Given the description of an element on the screen output the (x, y) to click on. 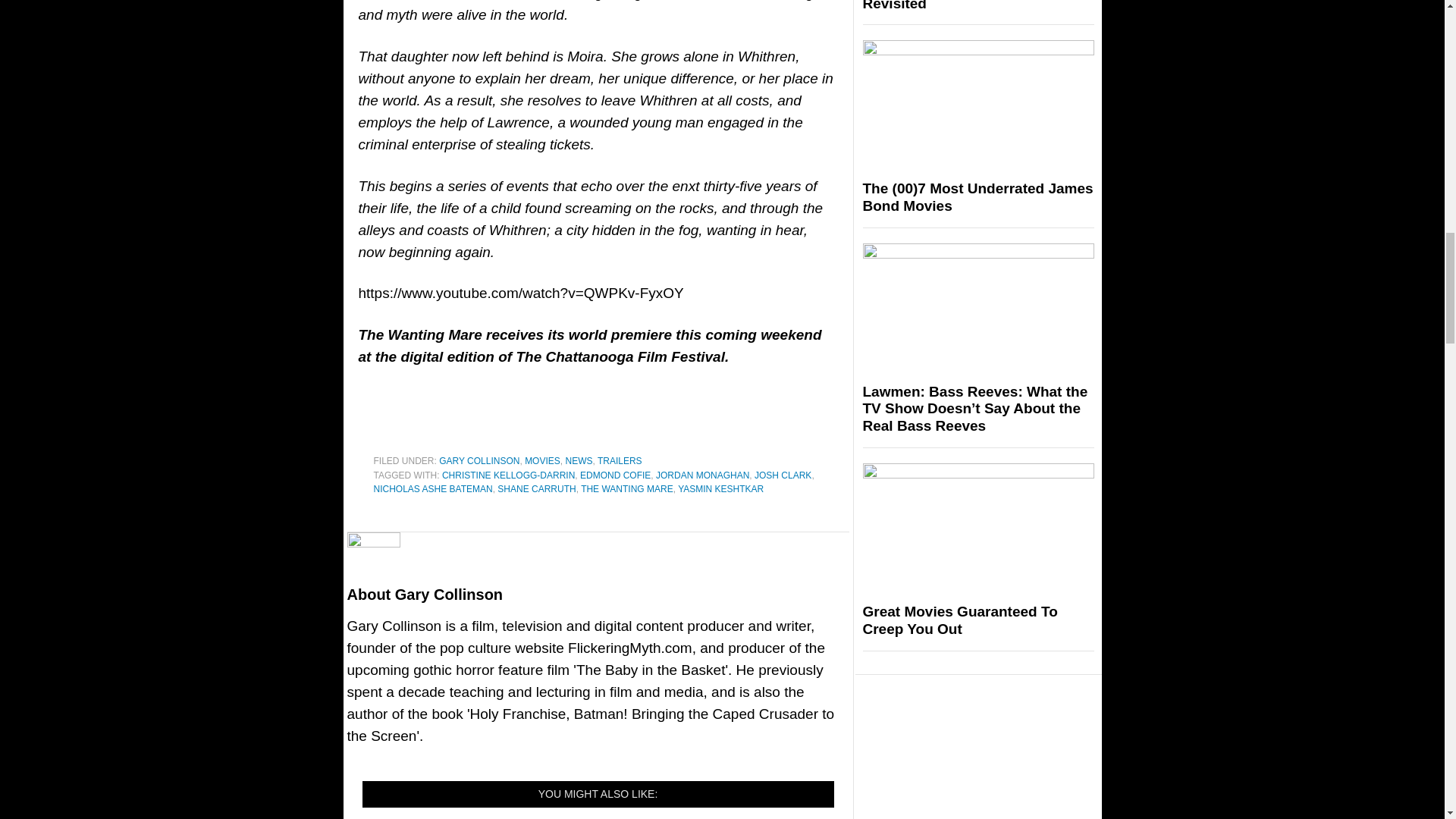
NEWS (578, 460)
MOVIES (542, 460)
GARY COLLINSON (479, 460)
